Given the description of an element on the screen output the (x, y) to click on. 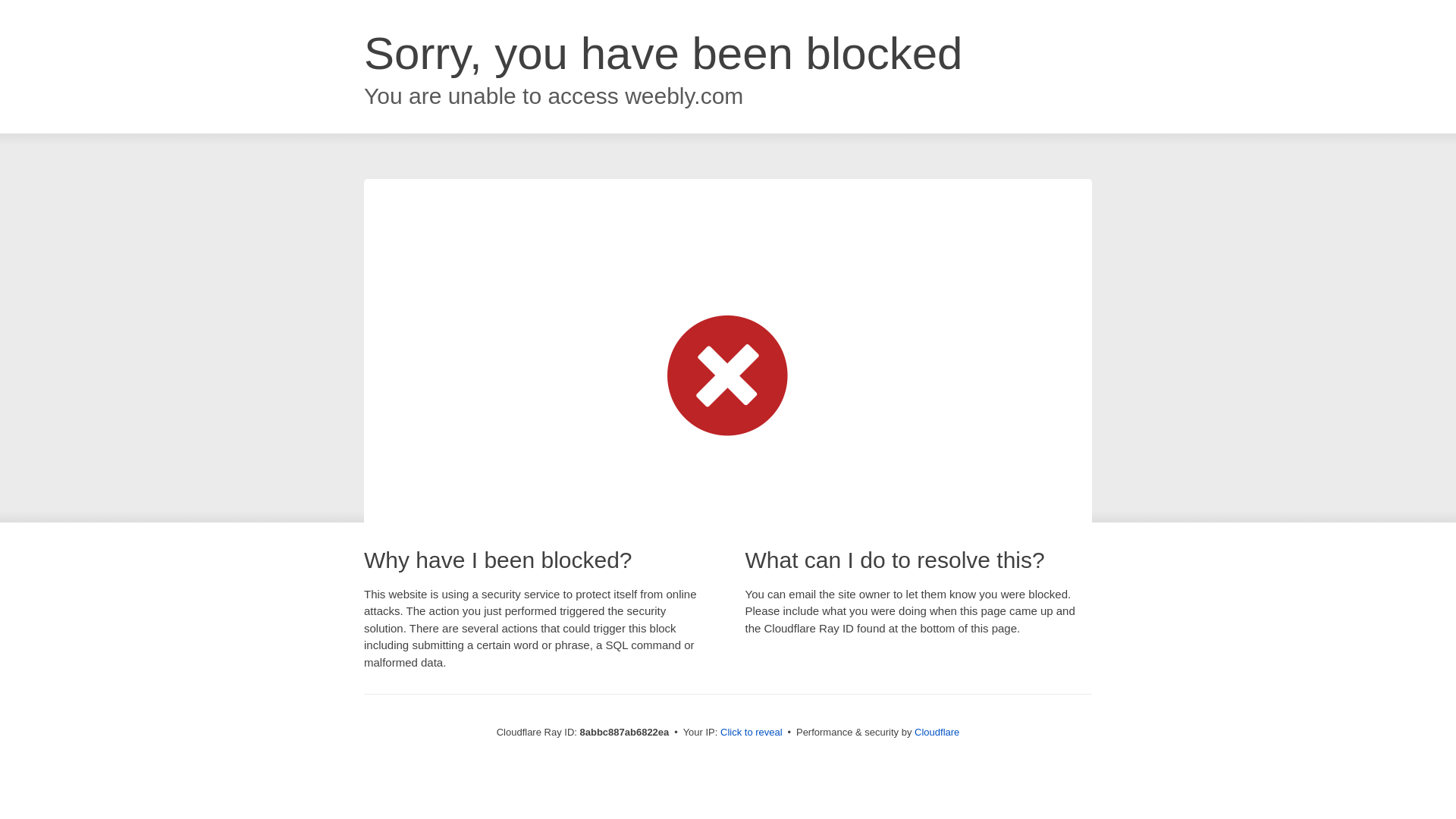
Click to reveal (751, 732)
Cloudflare (936, 731)
